Given the description of an element on the screen output the (x, y) to click on. 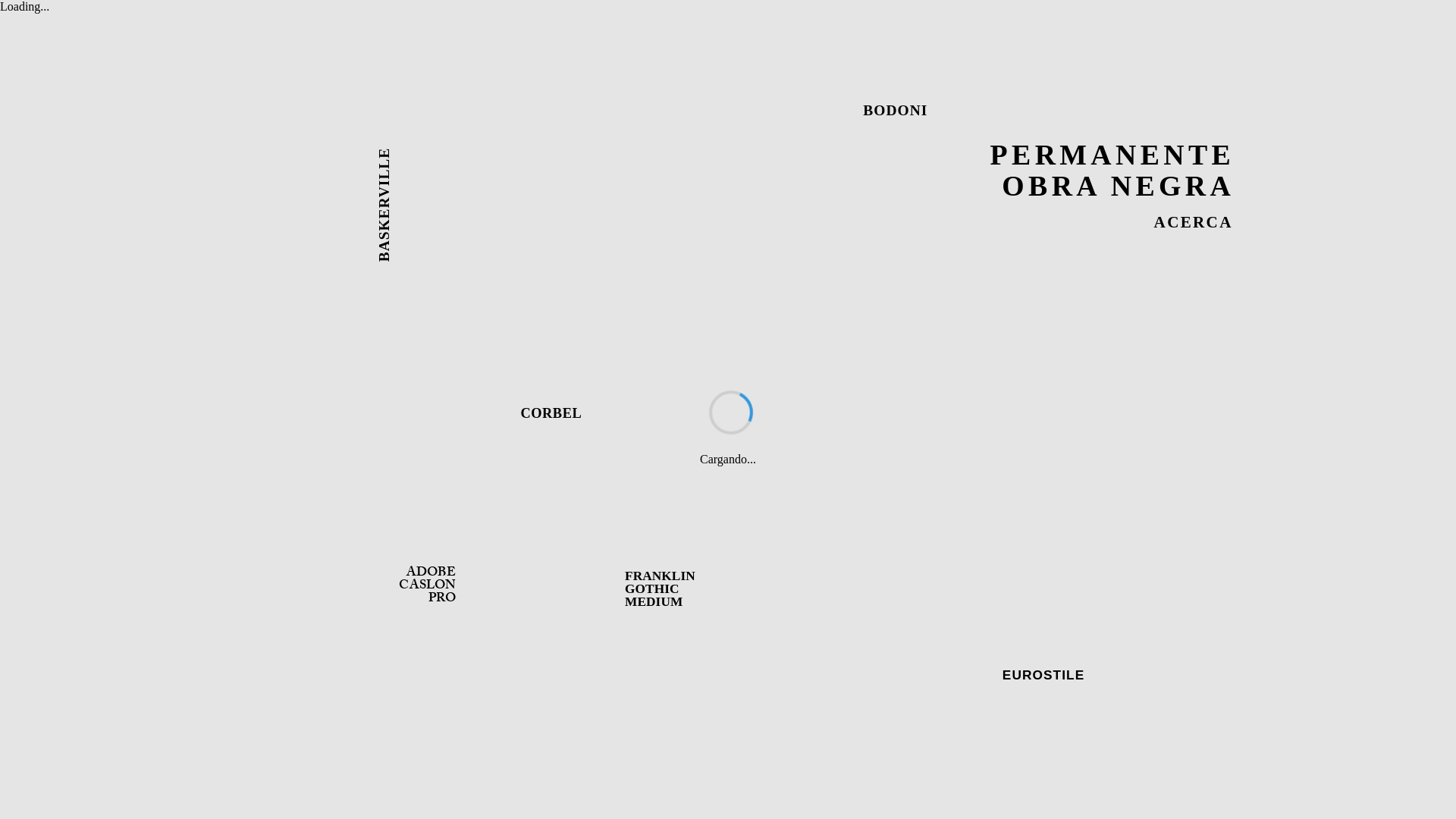
ACERCA Element type: text (1193, 222)
